Given the description of an element on the screen output the (x, y) to click on. 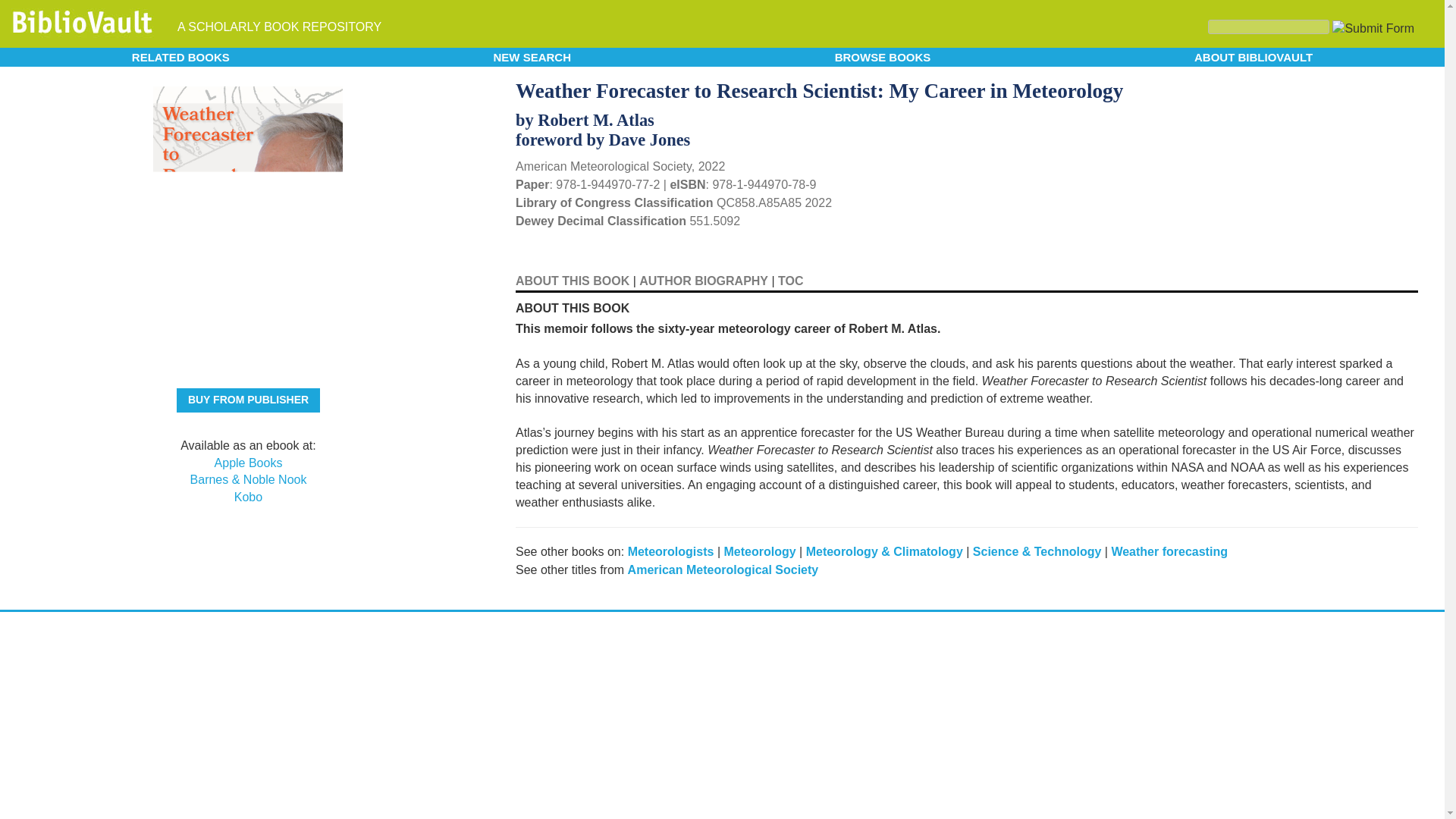
NEW SEARCH (532, 56)
RELATED BOOKS (180, 56)
Apple Books (248, 462)
Kobo (248, 496)
Send as an email (1404, 87)
BUY FROM PUBLISHER (248, 400)
Search (1268, 26)
BROWSE BOOKS (882, 56)
Share on Twitter (1358, 86)
Share on Facebook (1384, 90)
